Given the description of an element on the screen output the (x, y) to click on. 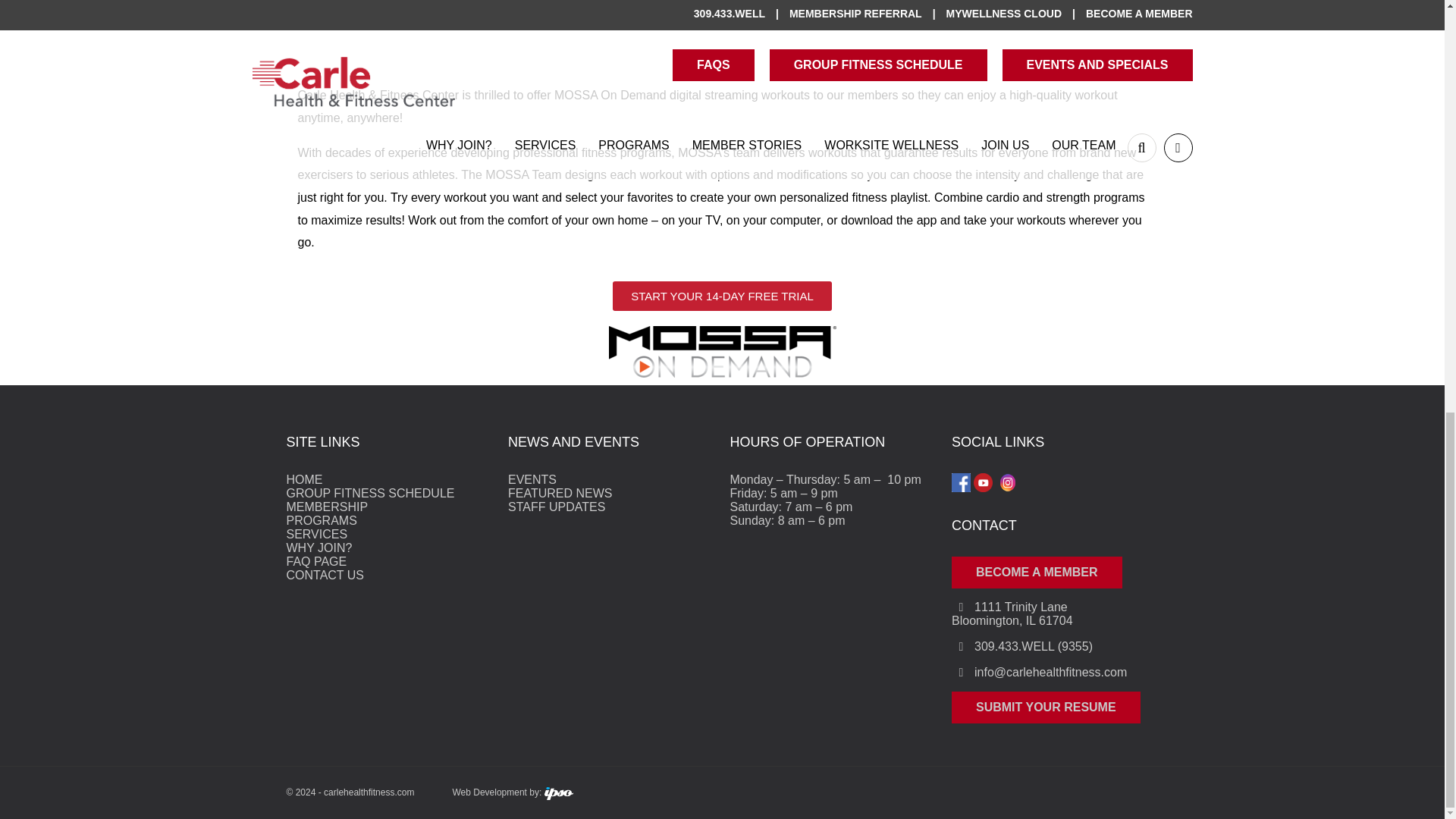
Instagram (1007, 482)
YouTube (983, 482)
Facebook (961, 482)
